Given the description of an element on the screen output the (x, y) to click on. 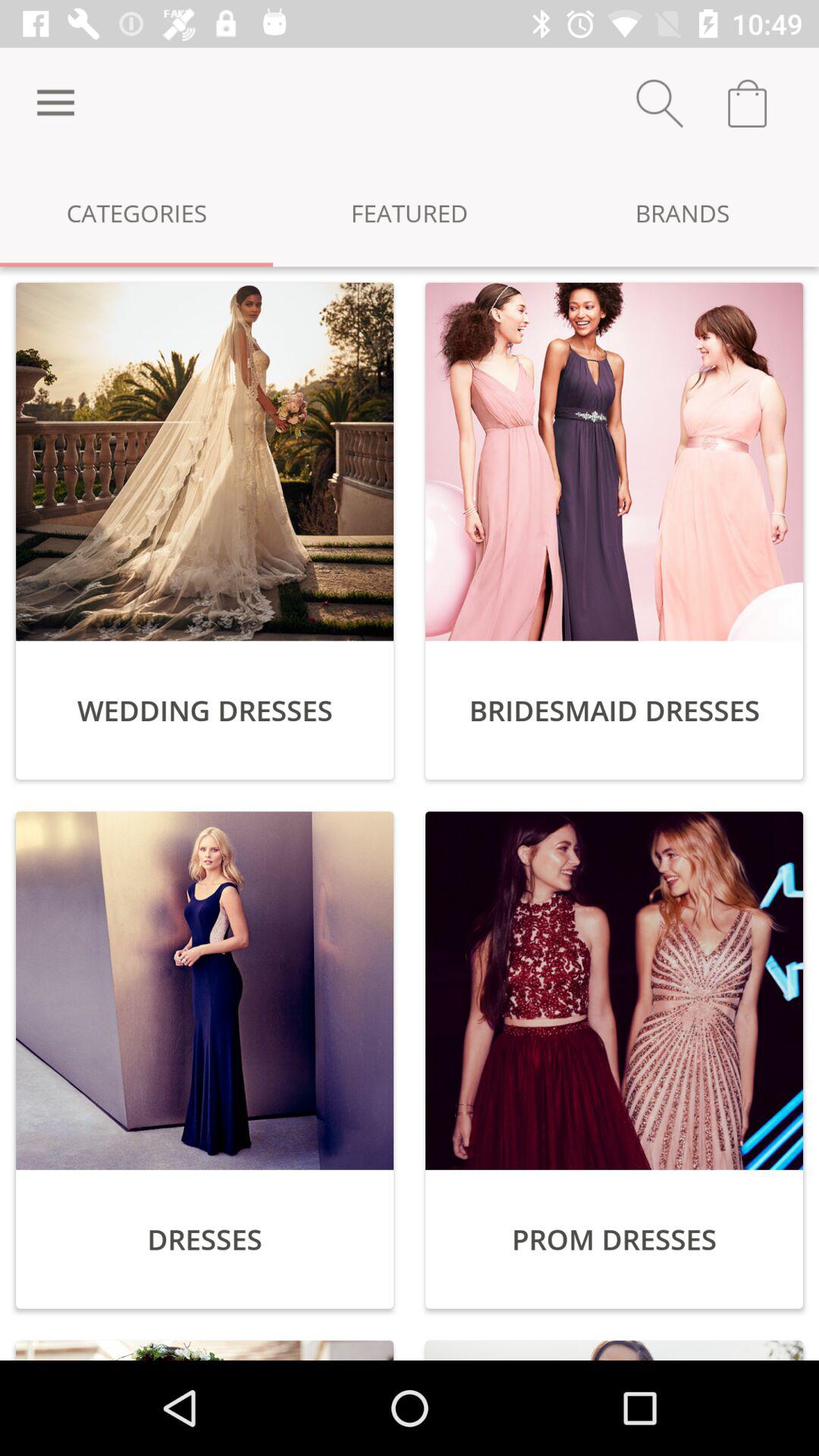
choose icon next to categories item (409, 212)
